Given the description of an element on the screen output the (x, y) to click on. 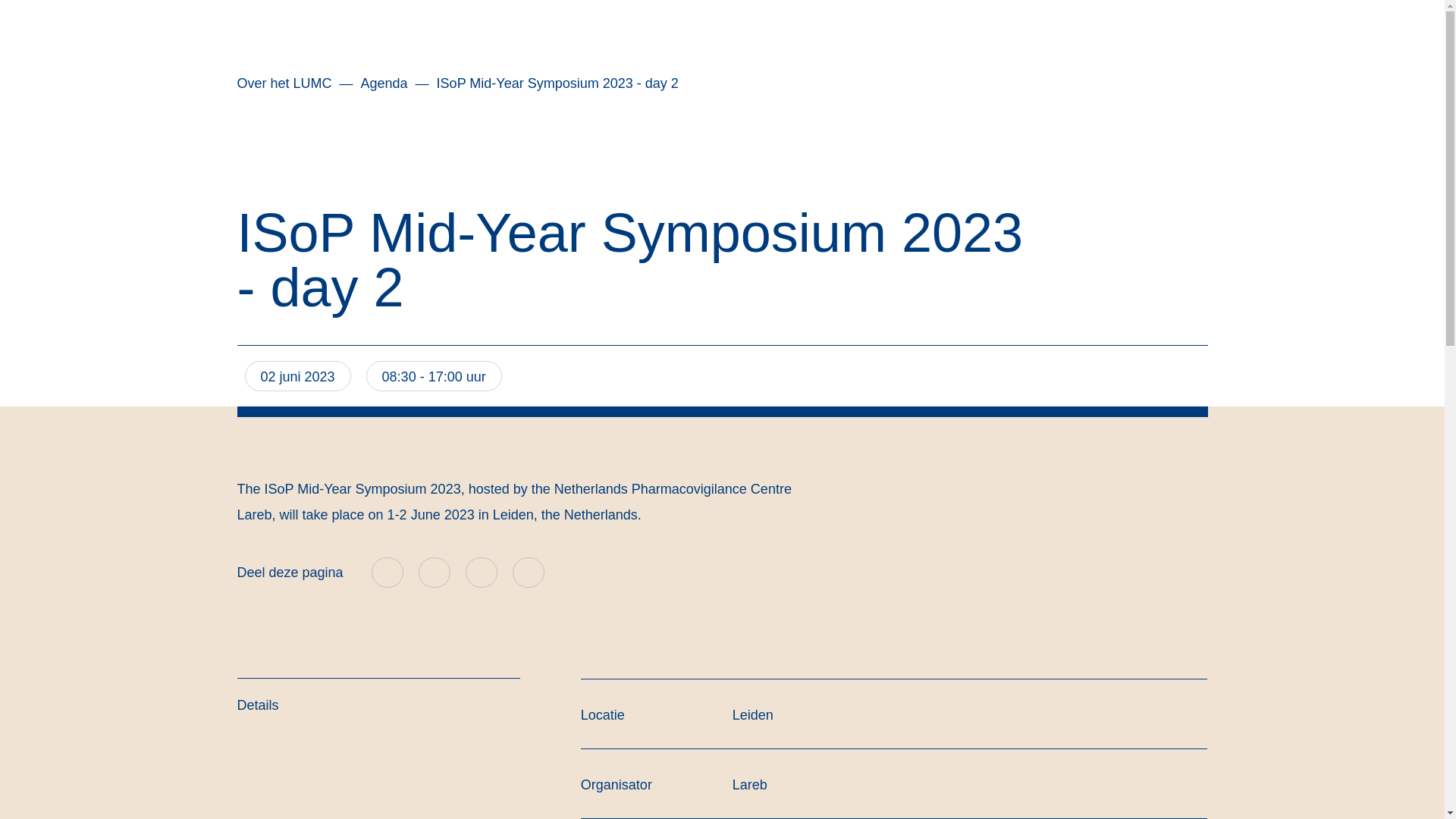
08:30 - 17:00 uur (434, 376)
Agenda (384, 83)
Deel deze pagina via Facebook (435, 571)
Deel deze pagina via WhatsApp (528, 572)
Deel deze pagina via LinkedIn (387, 572)
Deel deze pagina via LinkedIn (387, 573)
Deel deze pagina via email (481, 572)
Deel deze pagina via WhatsApp (528, 572)
Deel deze pagina via email (482, 574)
02 juni 2023 (297, 376)
